Given the description of an element on the screen output the (x, y) to click on. 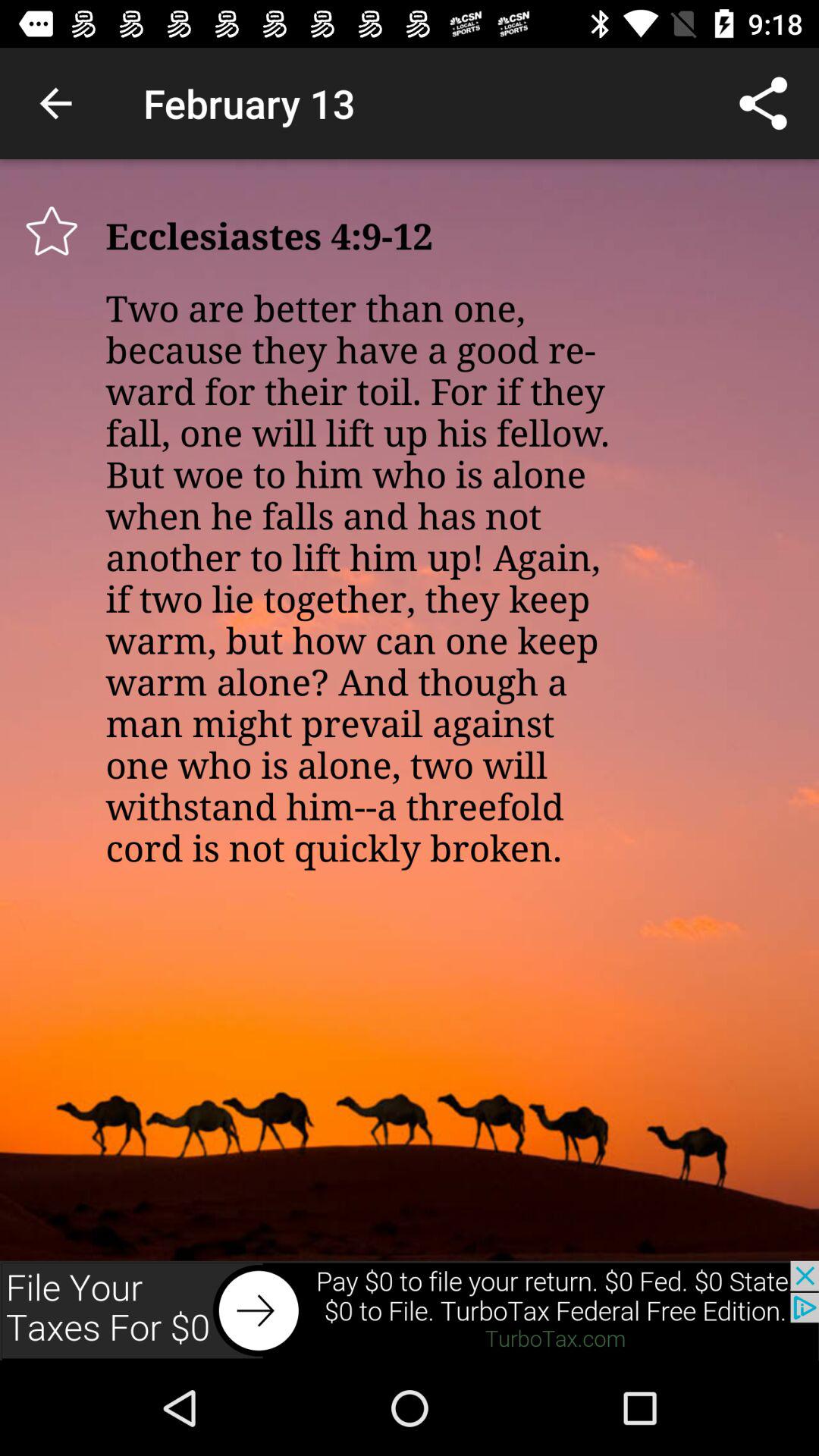
view this advertisement (409, 1310)
